Given the description of an element on the screen output the (x, y) to click on. 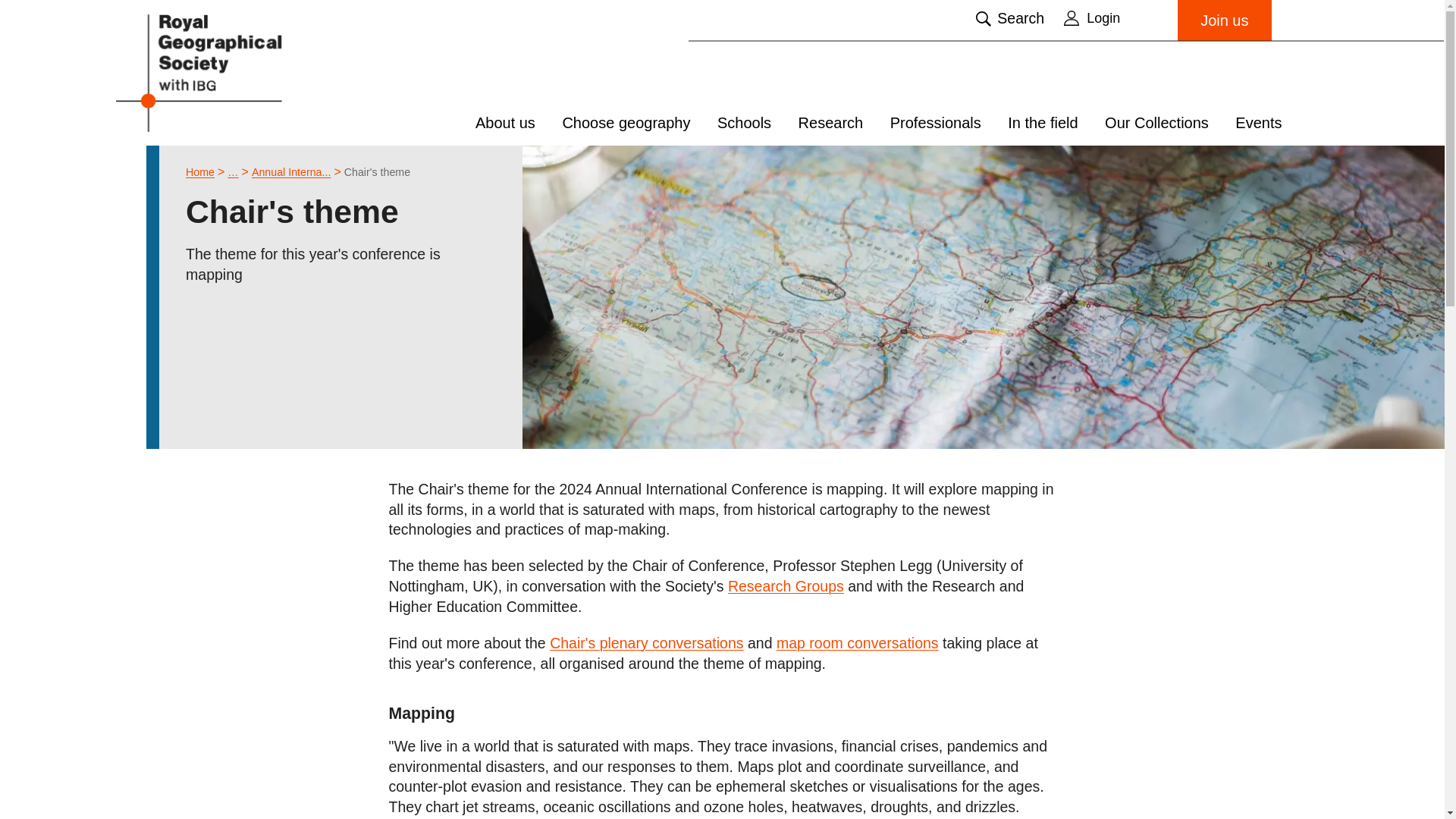
Choose geography (626, 122)
About us (505, 122)
Research (830, 122)
Research Groups (786, 586)
Login (1112, 17)
Schools (744, 122)
Chair's theme (376, 172)
Royal Geographical Society (236, 72)
Search (1009, 18)
Annual International Conference (290, 172)
Chair's map room conversations (857, 643)
Home (200, 172)
Chair's plenary conversations (646, 643)
Research (232, 172)
